Given the description of an element on the screen output the (x, y) to click on. 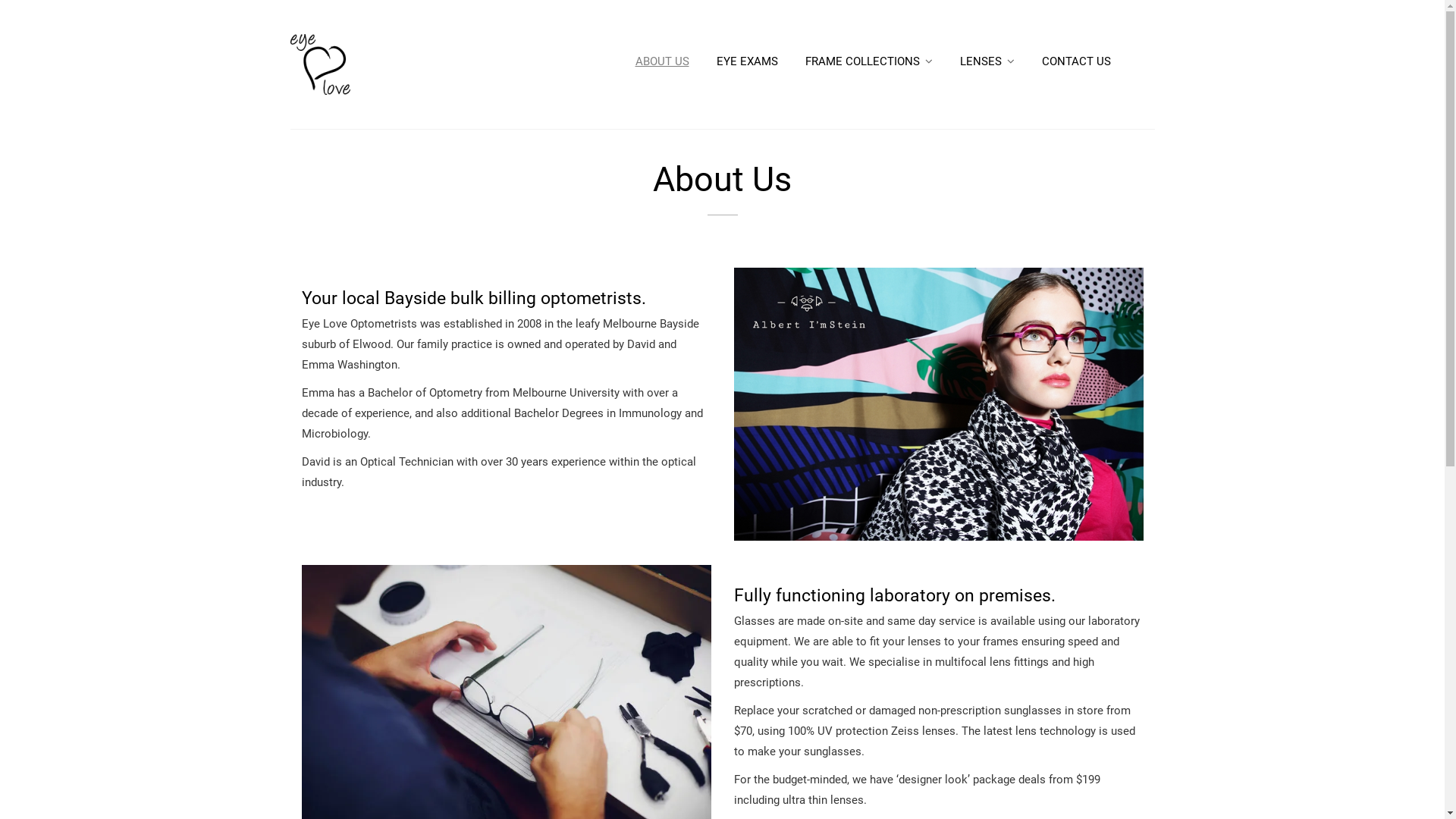
EYE EXAMS Element type: text (746, 61)
CONTACT US Element type: text (1076, 61)
FRAME COLLECTIONS Element type: text (868, 61)
ABOUT US Element type: text (661, 61)
Albert I'm Stein Element type: hover (938, 403)
LENSES Element type: text (987, 61)
